Given the description of an element on the screen output the (x, y) to click on. 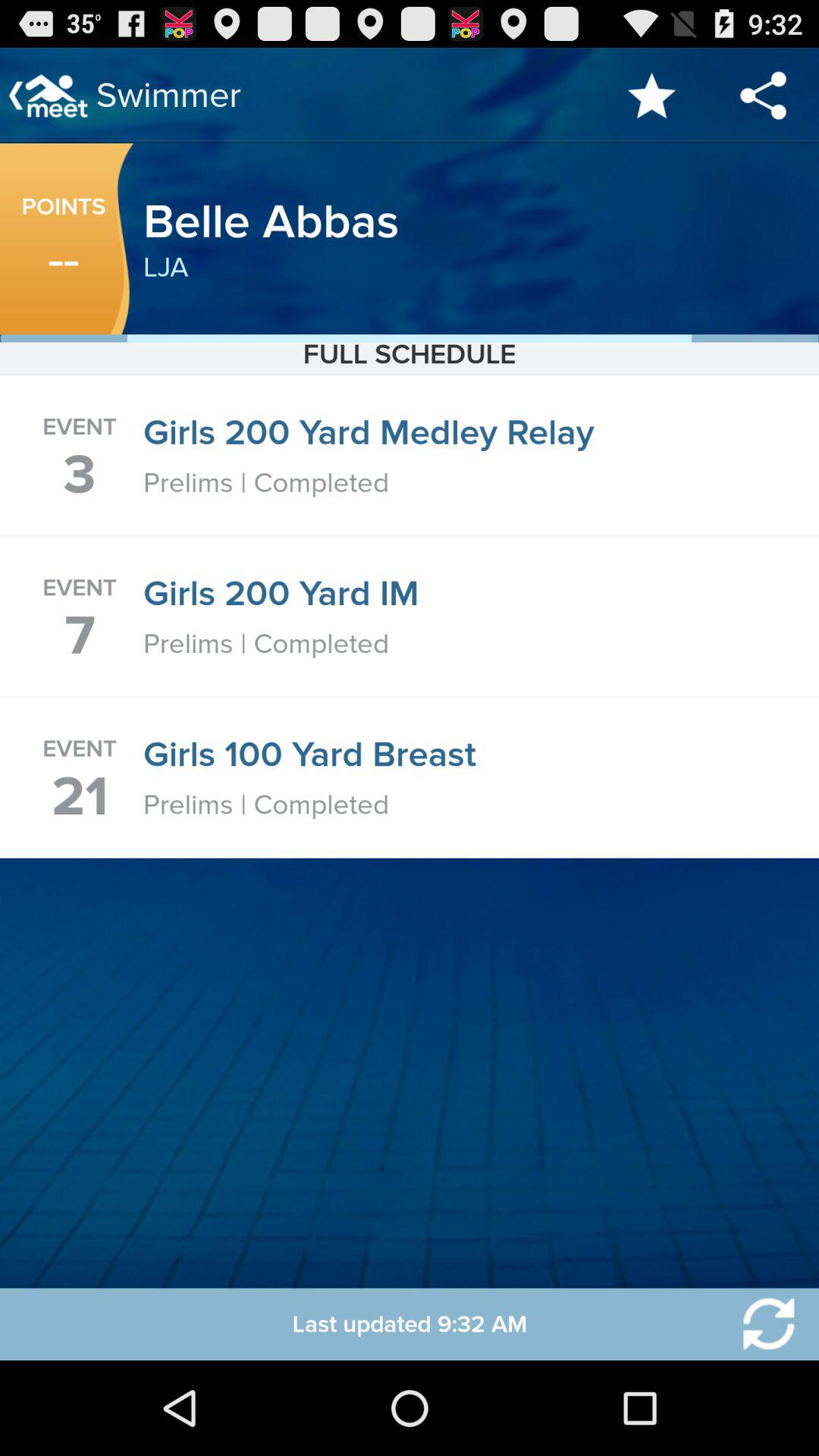
showtown (759, 1324)
